Given the description of an element on the screen output the (x, y) to click on. 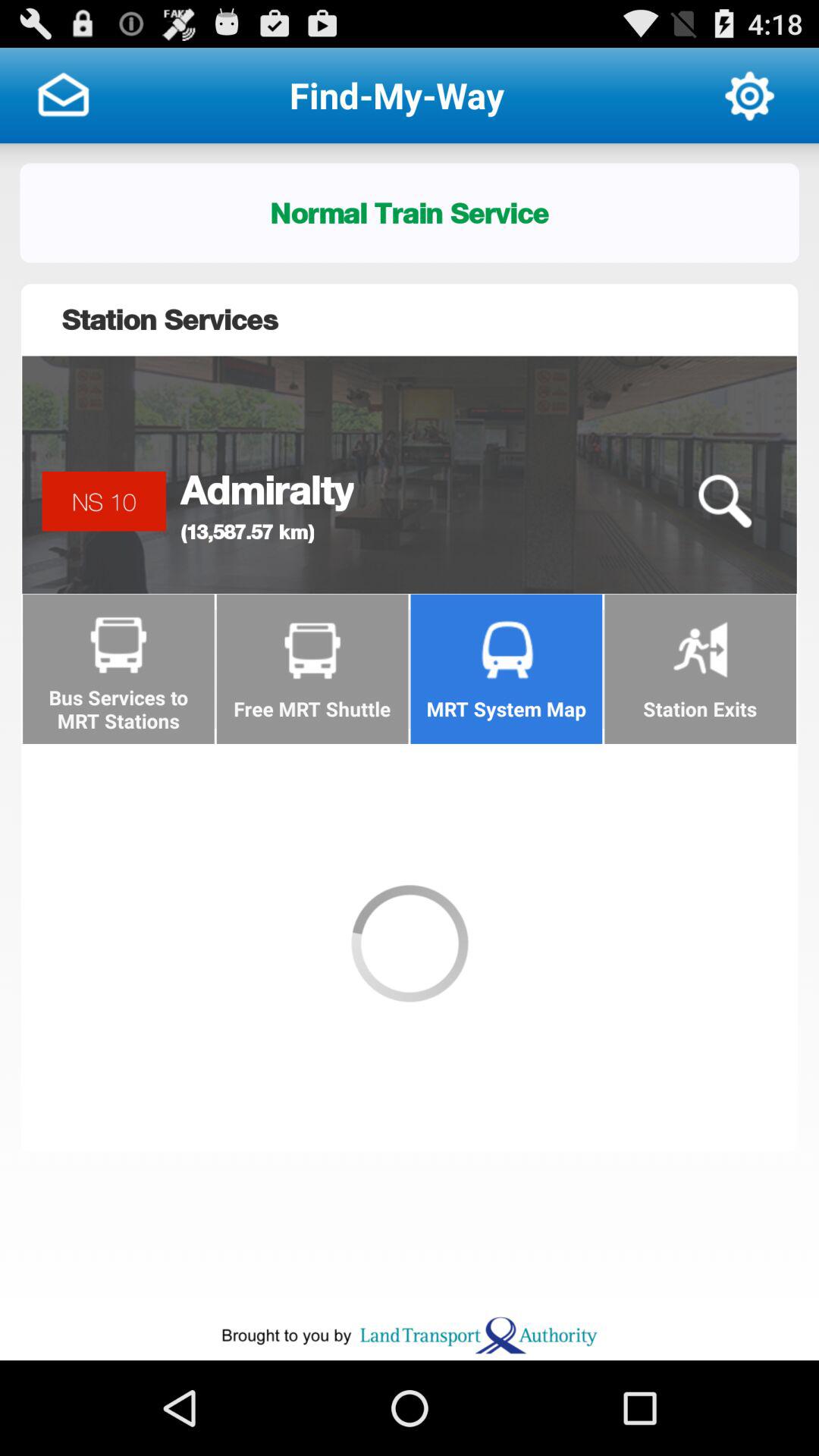
press the icon at the top right corner (749, 95)
